Given the description of an element on the screen output the (x, y) to click on. 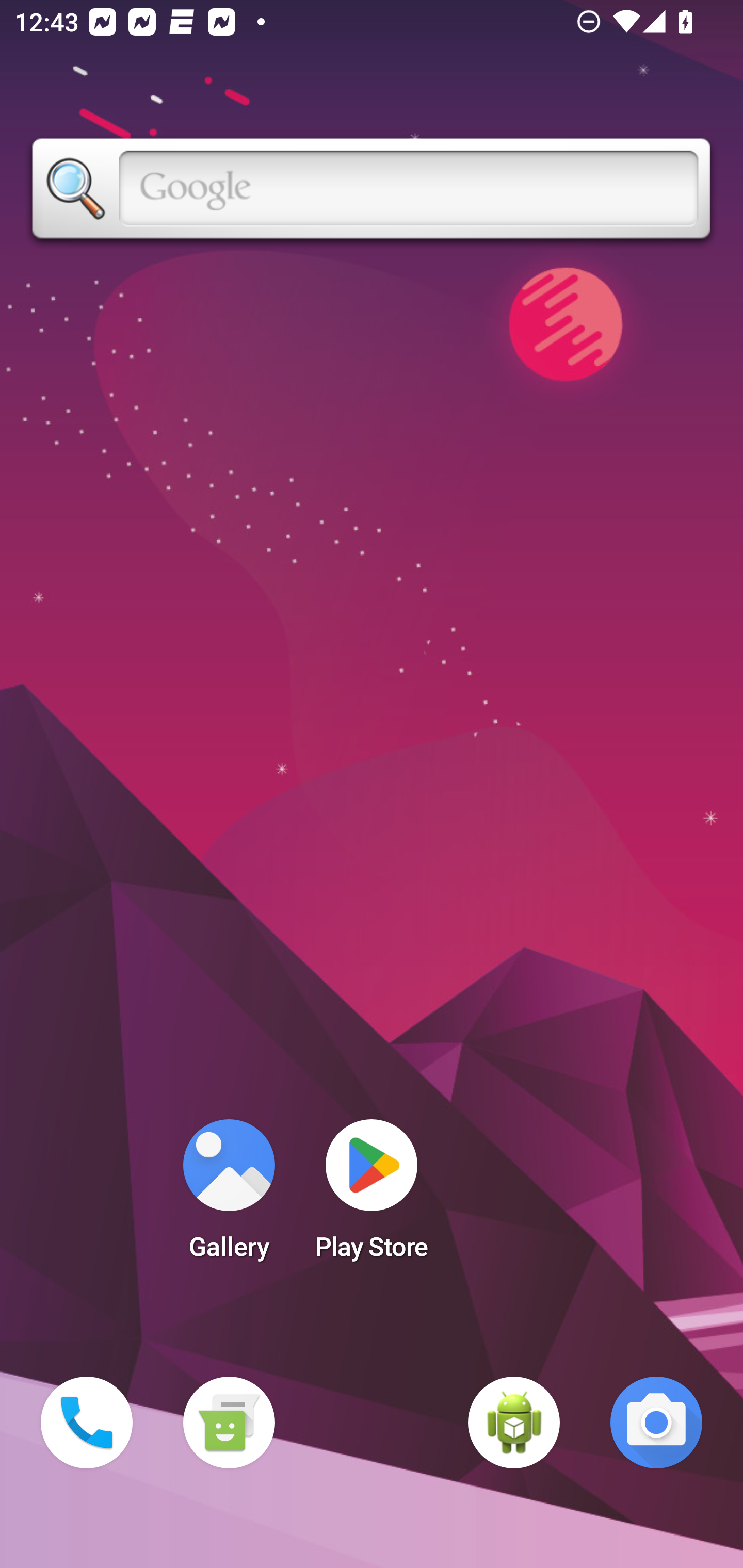
Gallery (228, 1195)
Play Store (371, 1195)
Phone (86, 1422)
Messaging (228, 1422)
WebView Browser Tester (513, 1422)
Camera (656, 1422)
